Given the description of an element on the screen output the (x, y) to click on. 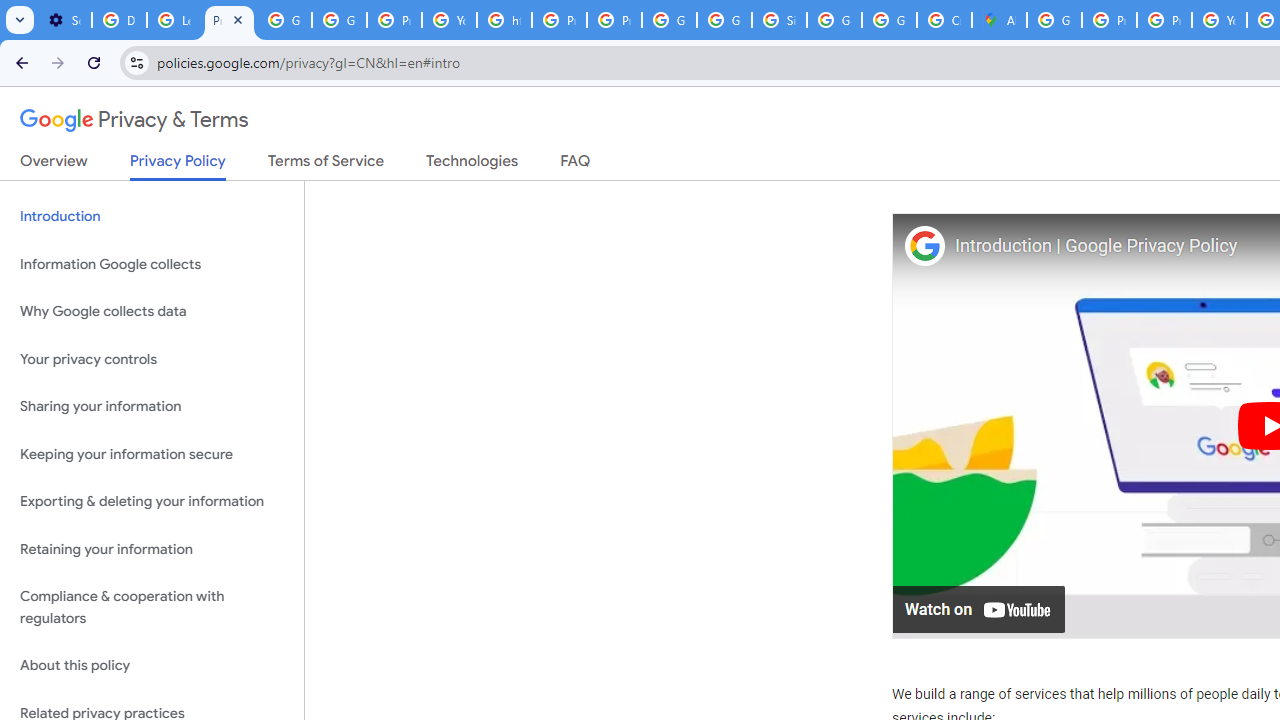
Watch on YouTube (979, 608)
https://scholar.google.com/ (504, 20)
Photo image of Google (924, 244)
Retaining your information (152, 548)
Privacy Help Center - Policies Help (1108, 20)
Search tabs (20, 20)
Keeping your information secure (152, 453)
Sharing your information (152, 407)
Privacy Help Center - Policies Help (1163, 20)
Google Account Help (284, 20)
Delete photos & videos - Computer - Google Photos Help (119, 20)
